Given the description of an element on the screen output the (x, y) to click on. 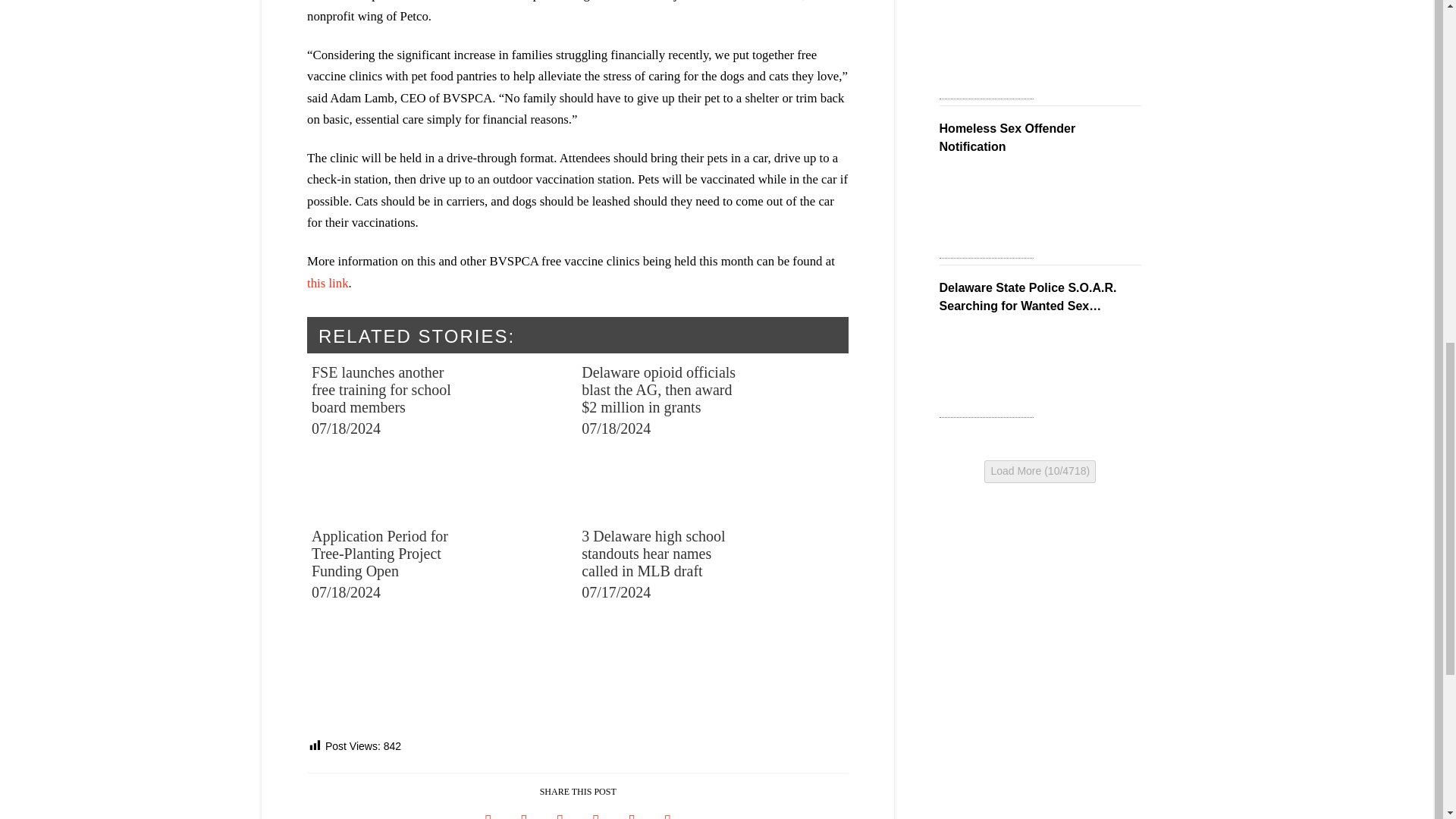
Homeless Sex Offender Notification (986, 210)
Share on Reddit (631, 811)
Share on Pinterest (595, 811)
Share via Email (667, 811)
this link (328, 283)
Share on LinkedIn (559, 811)
Share on X (523, 811)
Share on Facebook (487, 811)
Homeless Sex Offender Notification (986, 51)
